Given the description of an element on the screen output the (x, y) to click on. 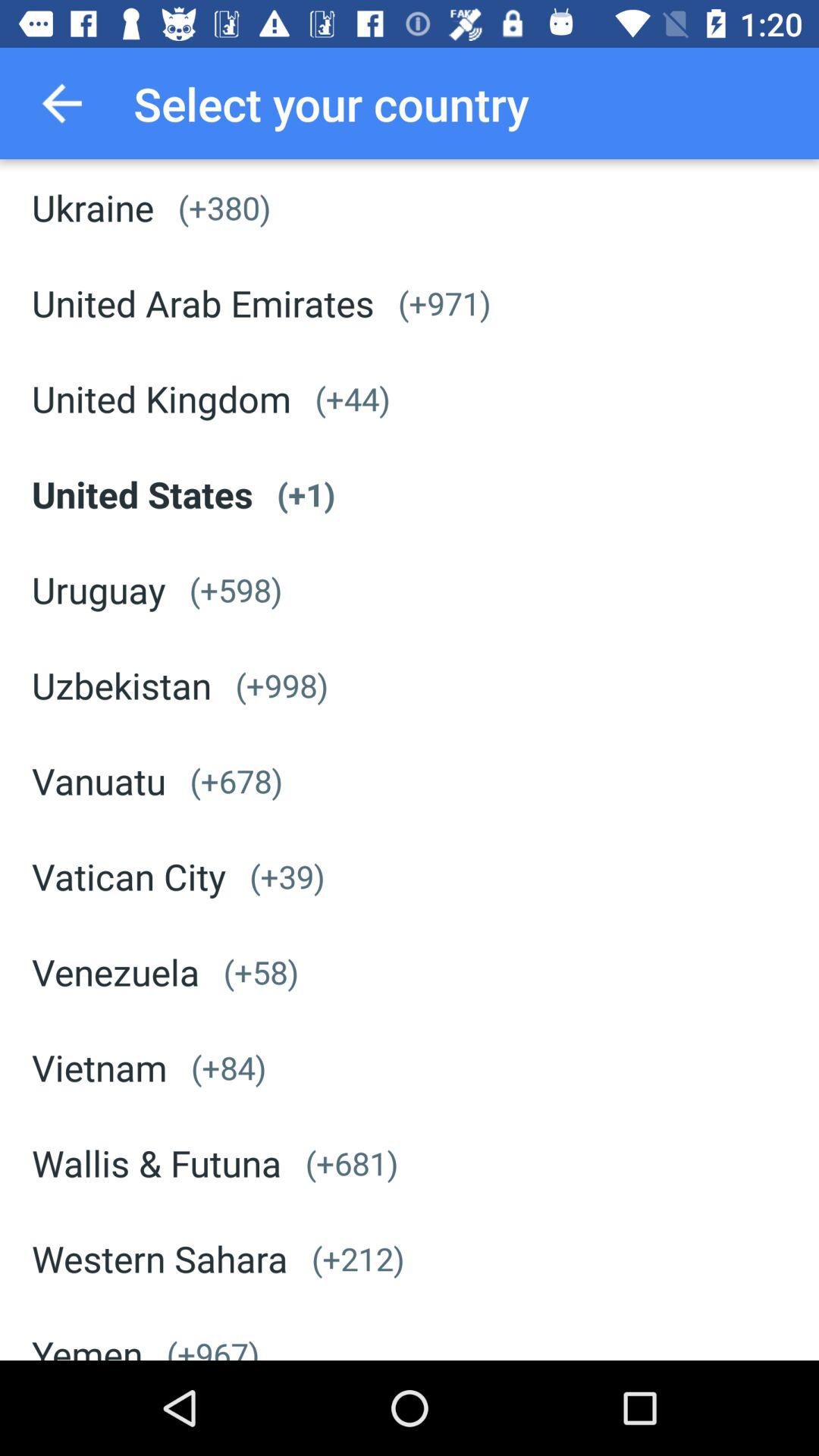
choose app above venezuela item (128, 875)
